Given the description of an element on the screen output the (x, y) to click on. 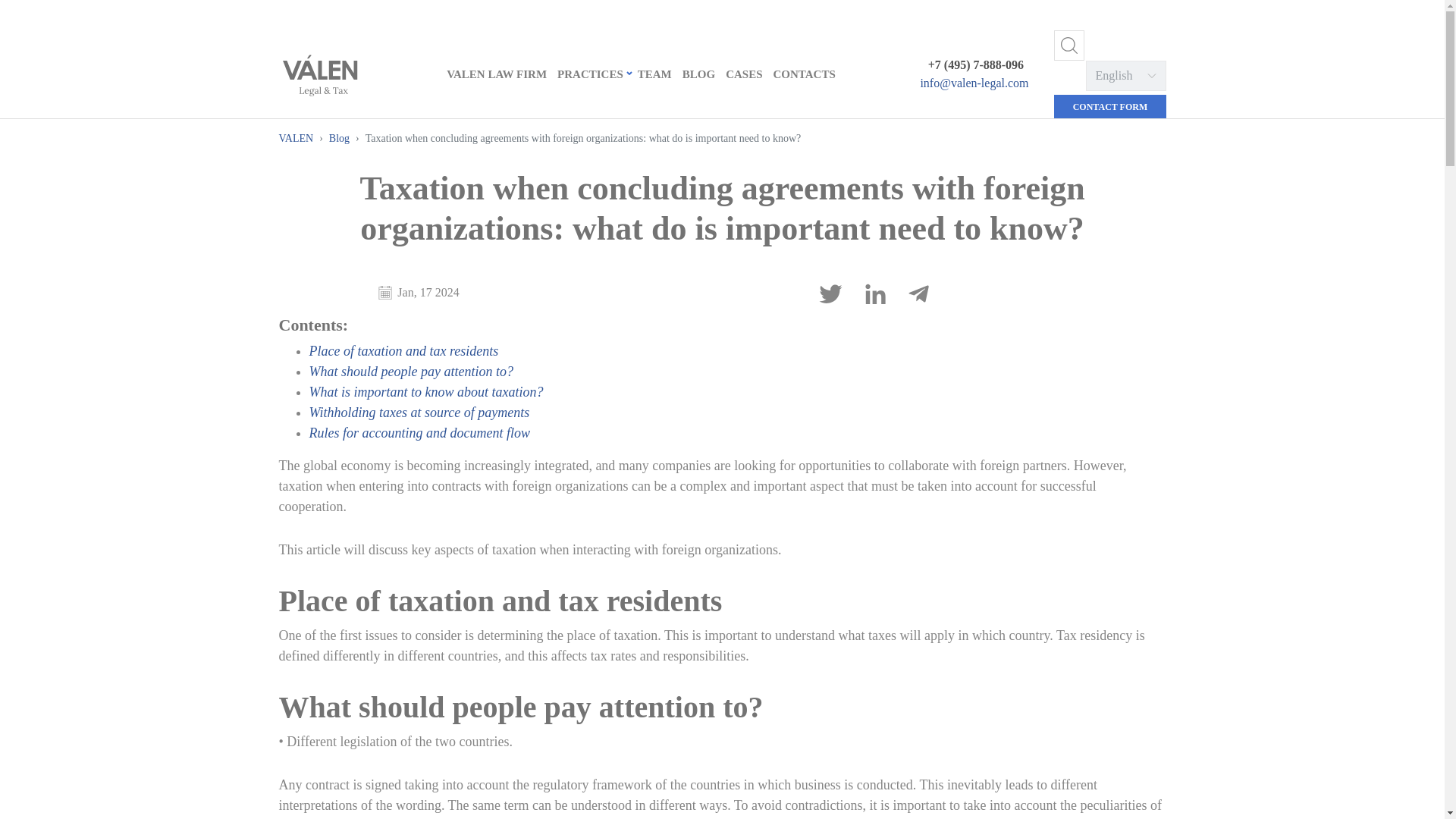
VALEN LAW FIRM (496, 74)
PRACTICES (591, 74)
